Given the description of an element on the screen output the (x, y) to click on. 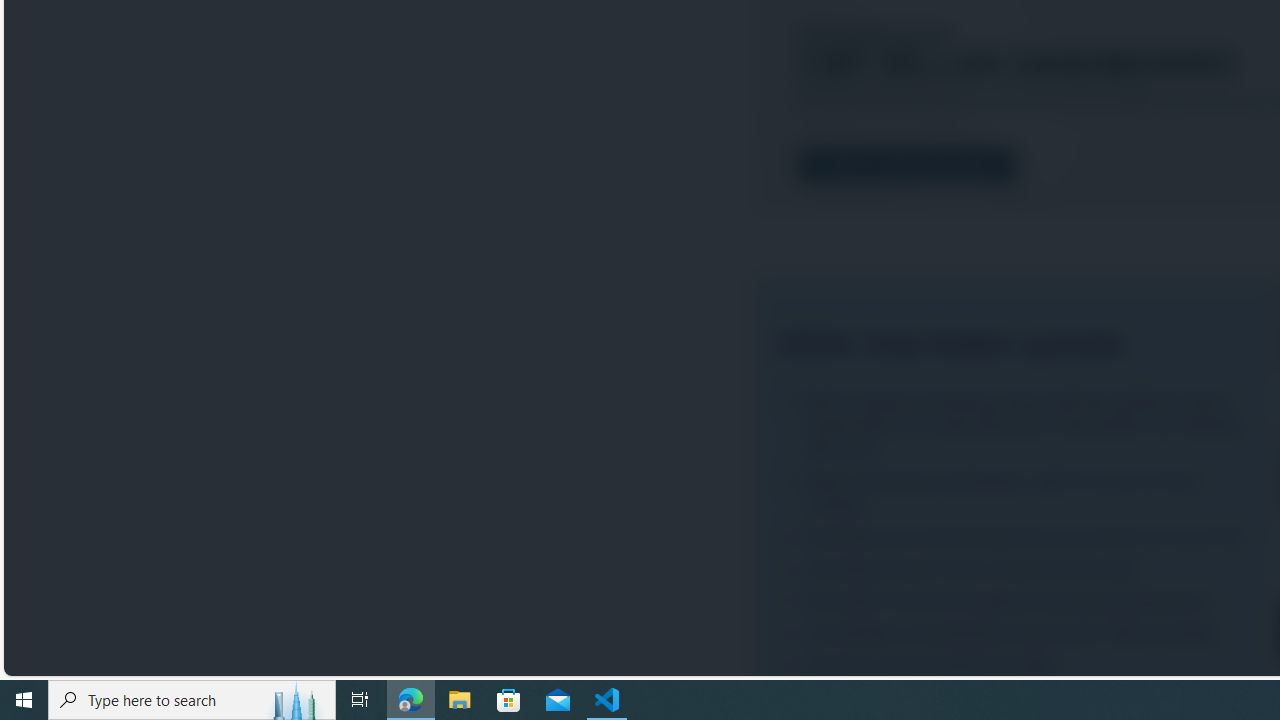
Get eBay product sales research on the go (1015, 569)
Say hello to the new desktop messaging experience (1015, 601)
Venmo is now accepted on eBay (1015, 665)
More marketing capabilities, right from your Active Listings (1015, 492)
Empower your advertising with more metrics and control (1015, 537)
A simplified, consolidated view of your eBay earnings (1015, 632)
